Given the description of an element on the screen output the (x, y) to click on. 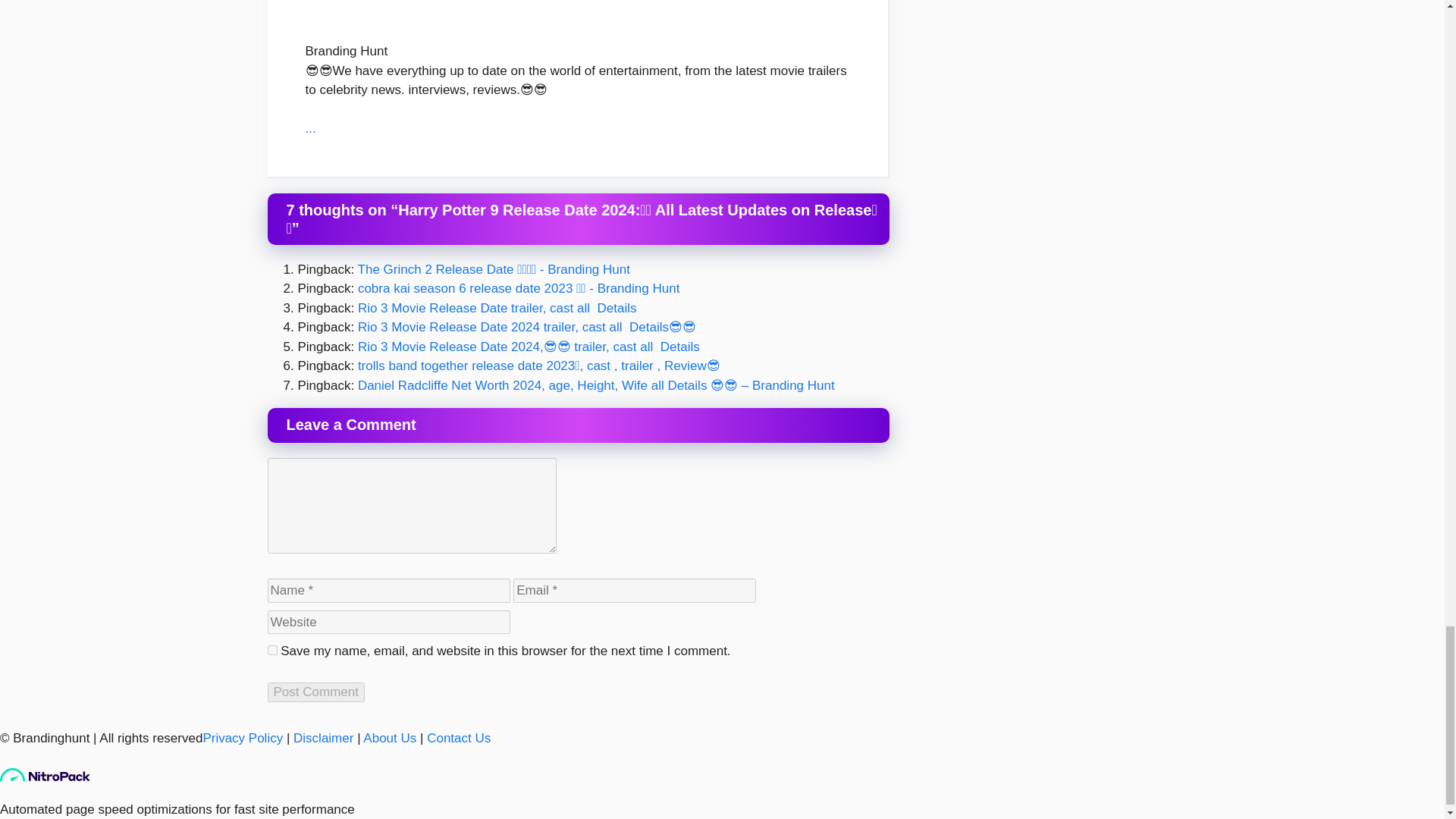
Read more about this author (309, 128)
Post Comment (315, 691)
... (309, 128)
Post Comment (315, 691)
Rio 3 Movie Release Date trailer, cast all  Details (497, 308)
yes (271, 650)
